Given the description of an element on the screen output the (x, y) to click on. 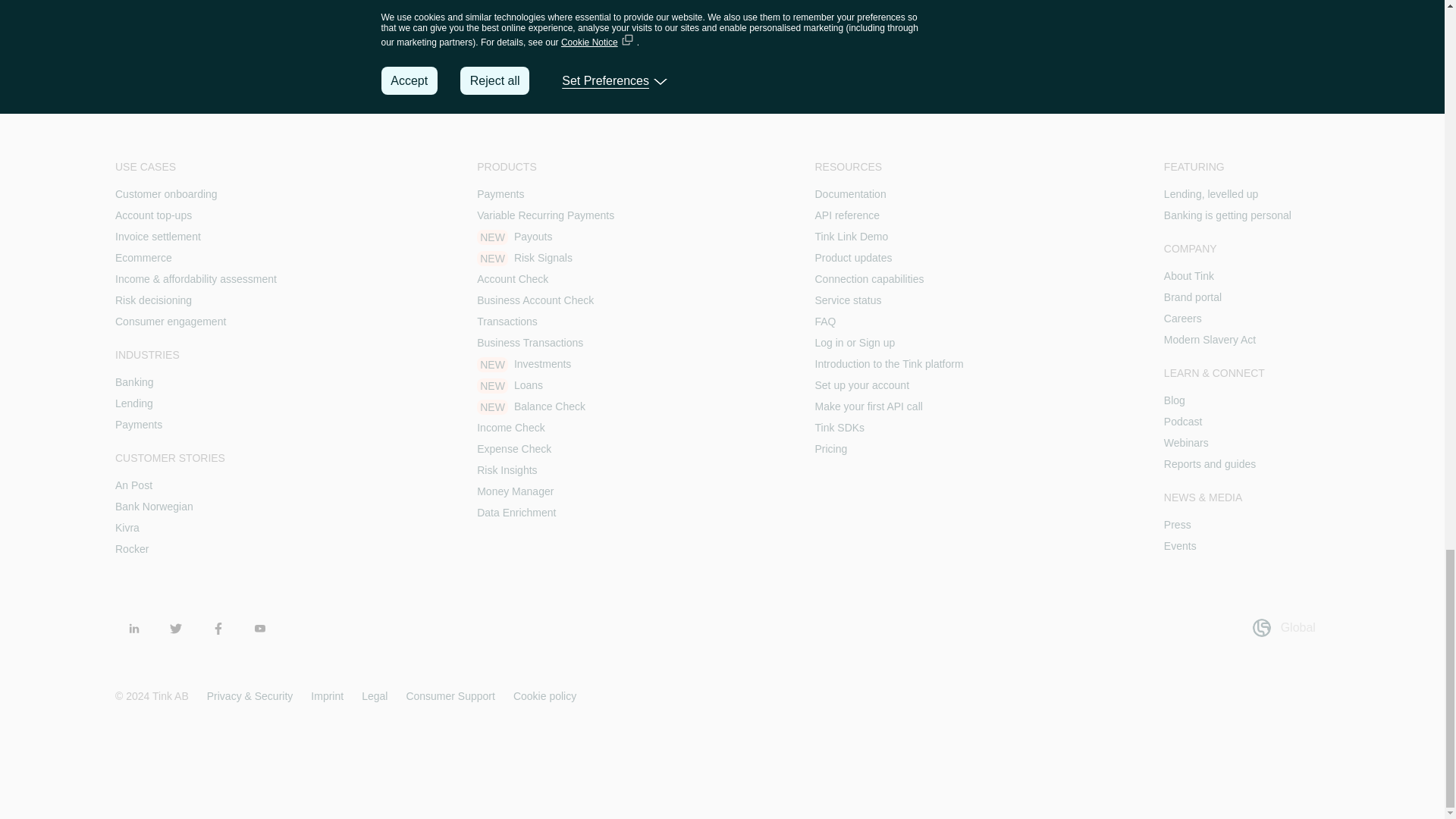
Banking (134, 381)
Payments (500, 193)
Invoice settlement (157, 236)
Bank Norwegian (154, 506)
Variable Recurring Payments (545, 215)
Lending (133, 403)
Payments (138, 424)
Account Check (512, 278)
Ecommerce (143, 257)
INDUSTRIES (195, 354)
Transactions (507, 321)
An Post (133, 485)
PRODUCTS (545, 166)
Rocker (131, 548)
Account top-ups (153, 215)
